Given the description of an element on the screen output the (x, y) to click on. 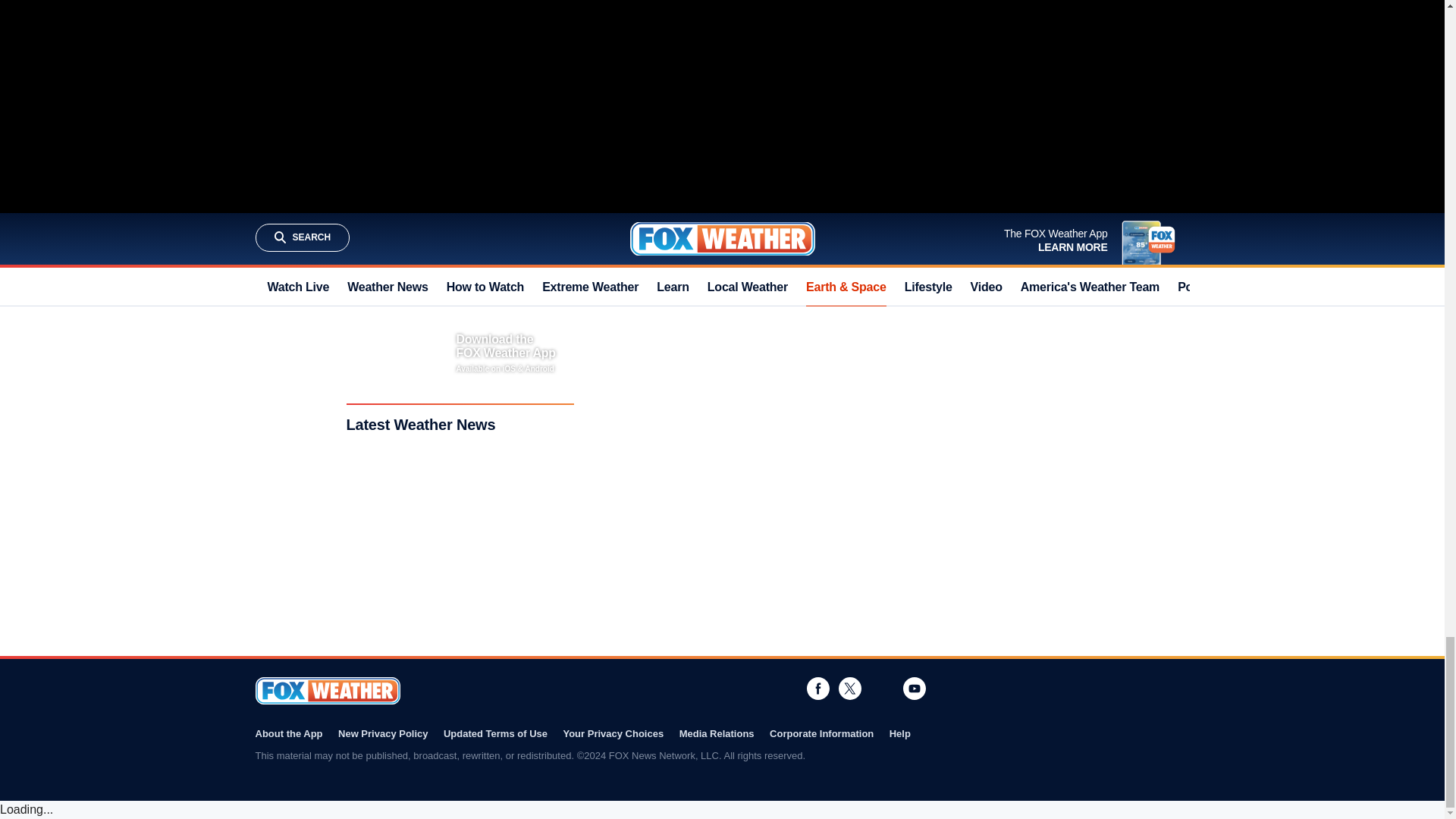
HISTORY (857, 204)
WILDLIFE (693, 204)
NATURE (745, 204)
HOW TO WATCH FOX WEATHER (695, 79)
ANIMALS (640, 204)
OUTDOORS (801, 204)
Fox Weather (326, 690)
